Given the description of an element on the screen output the (x, y) to click on. 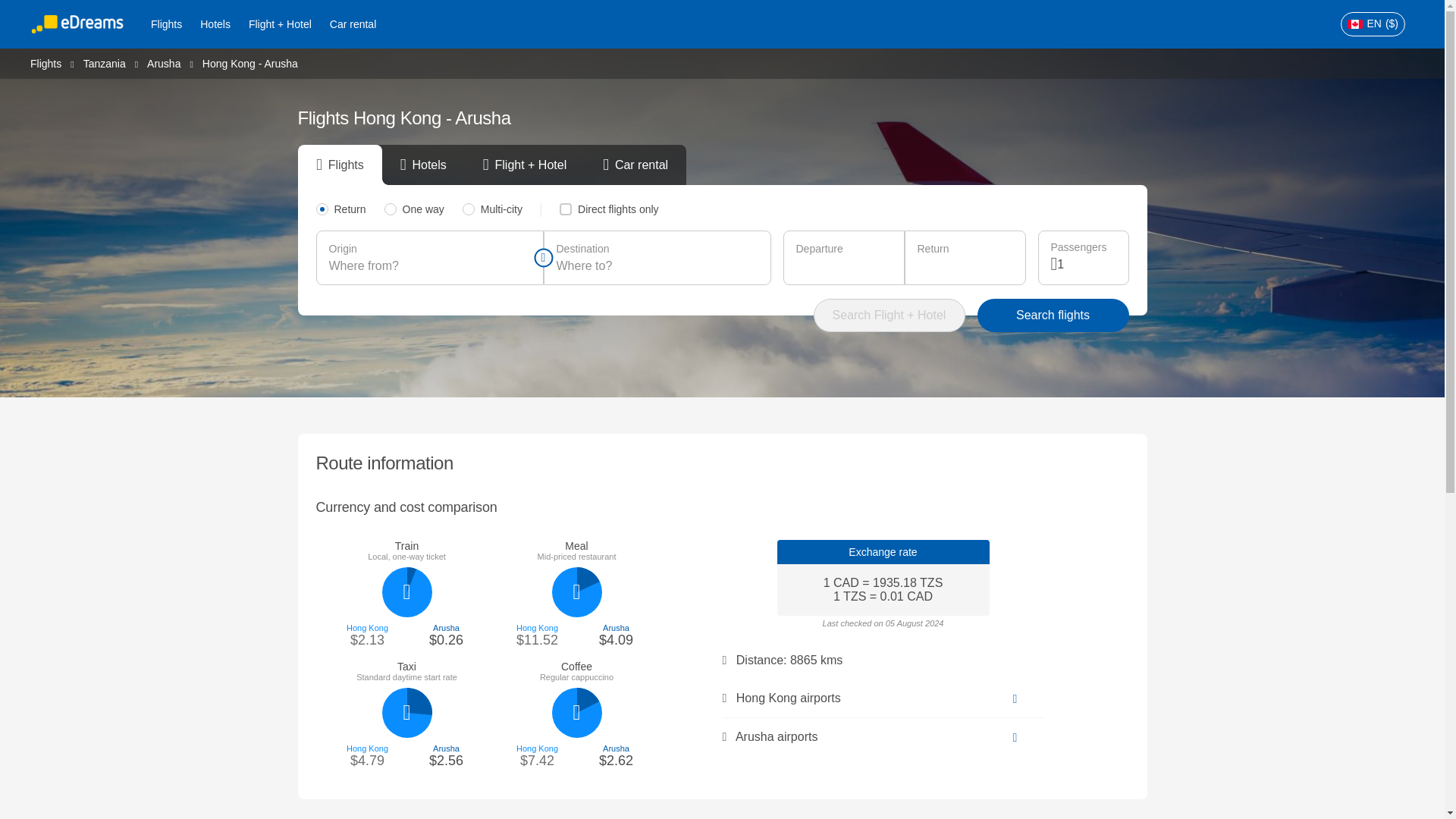
Flights (165, 24)
Car rental (352, 24)
Flights (45, 62)
Arusha (163, 62)
Hotels (215, 24)
Hong Kong - Arusha (250, 63)
Search flights (1052, 315)
1 (1086, 263)
Tanzania (103, 62)
